Given the description of an element on the screen output the (x, y) to click on. 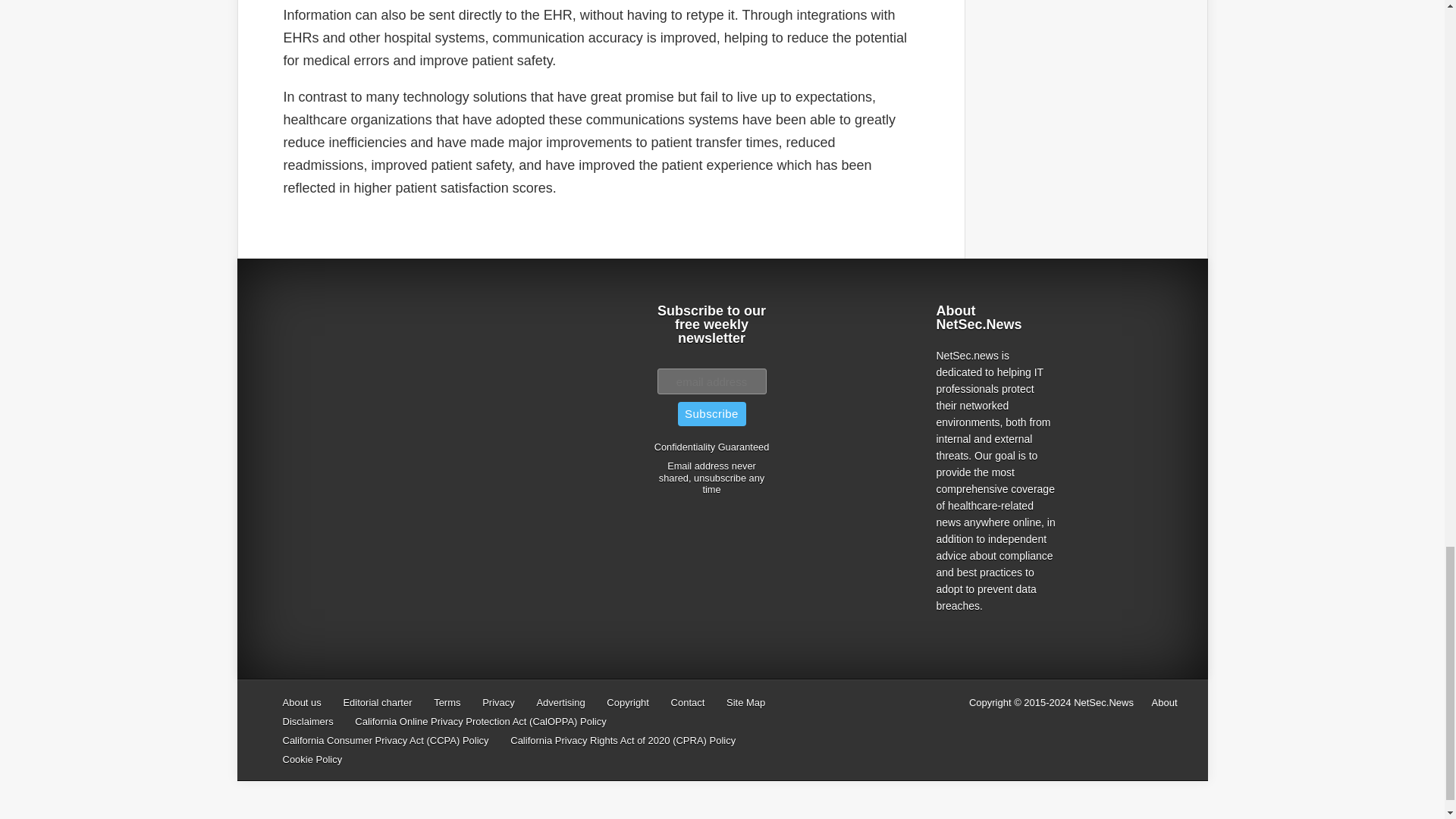
Subscribe (711, 413)
Advertising (560, 702)
Contact (687, 702)
Editorial charter (377, 702)
Copyright (628, 702)
Privacy (498, 702)
Terms (446, 702)
Subscribe (711, 413)
Site Map (745, 702)
About us (301, 702)
